Given the description of an element on the screen output the (x, y) to click on. 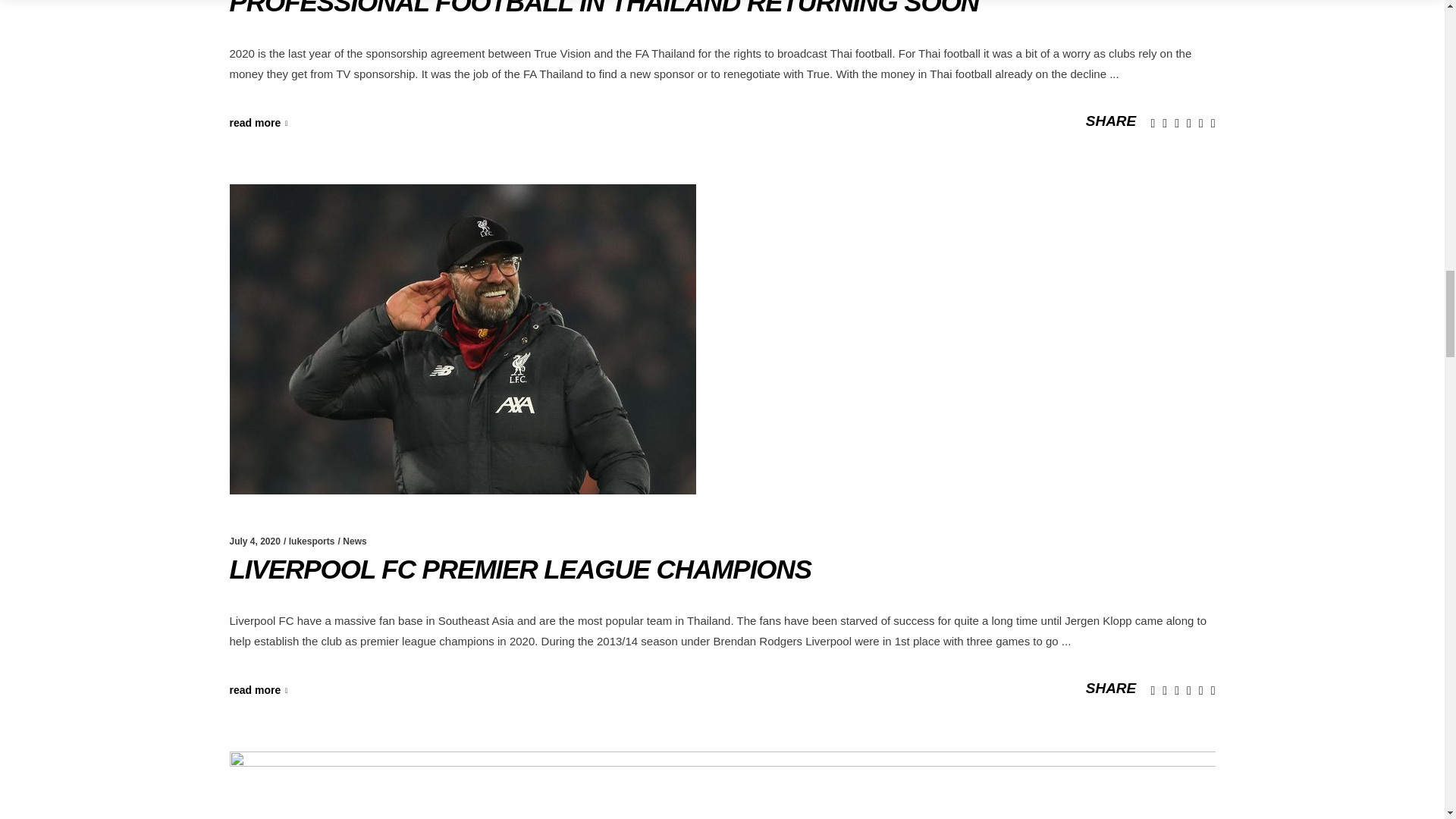
Who will be Thai League 1 Champions (721, 785)
Professional Football In Thailand Returning Soon (603, 8)
Liverpool FC Premier League Champions (519, 568)
